Given the description of an element on the screen output the (x, y) to click on. 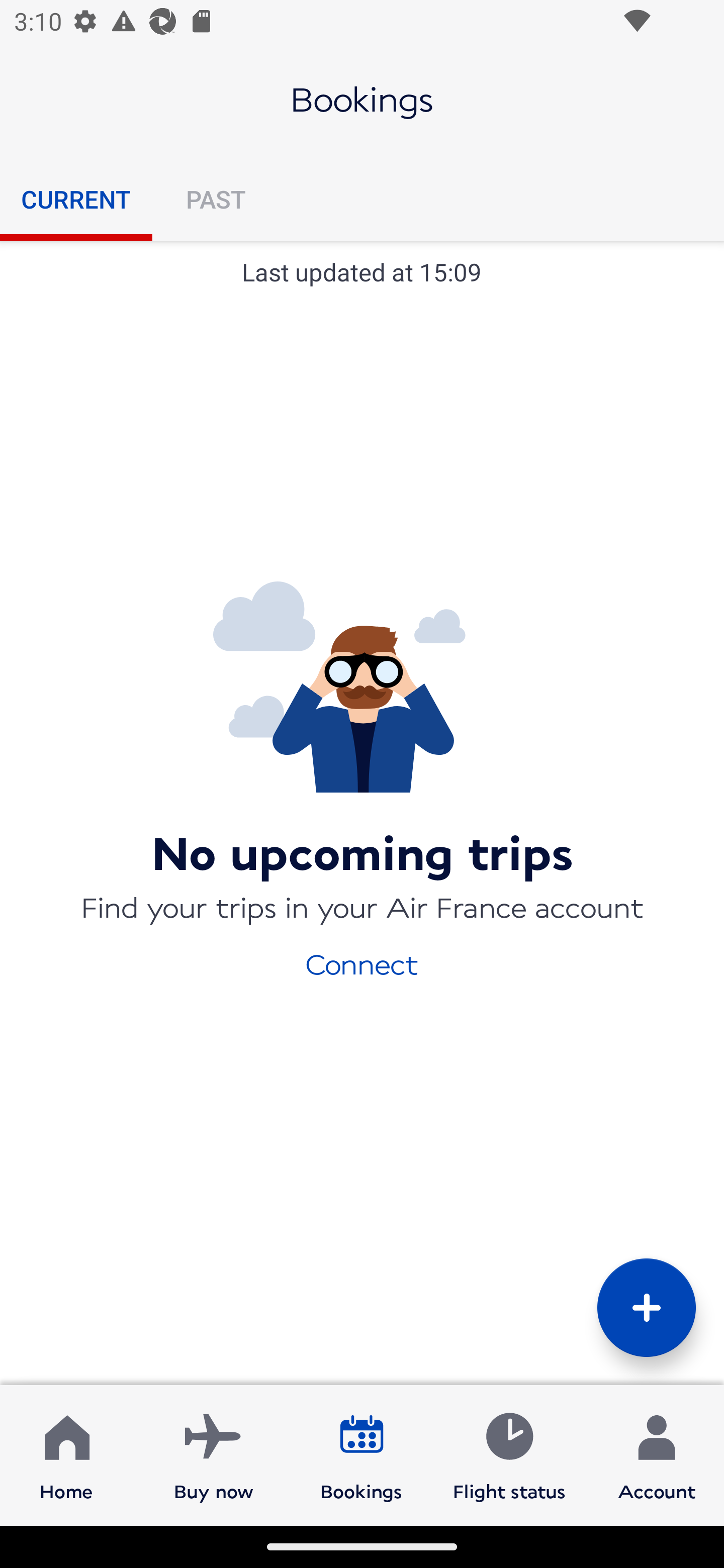
PAST (215, 198)
Connect (361, 963)
Home (66, 1454)
Buy now (213, 1454)
Flight status (509, 1454)
Account (657, 1454)
